Given the description of an element on the screen output the (x, y) to click on. 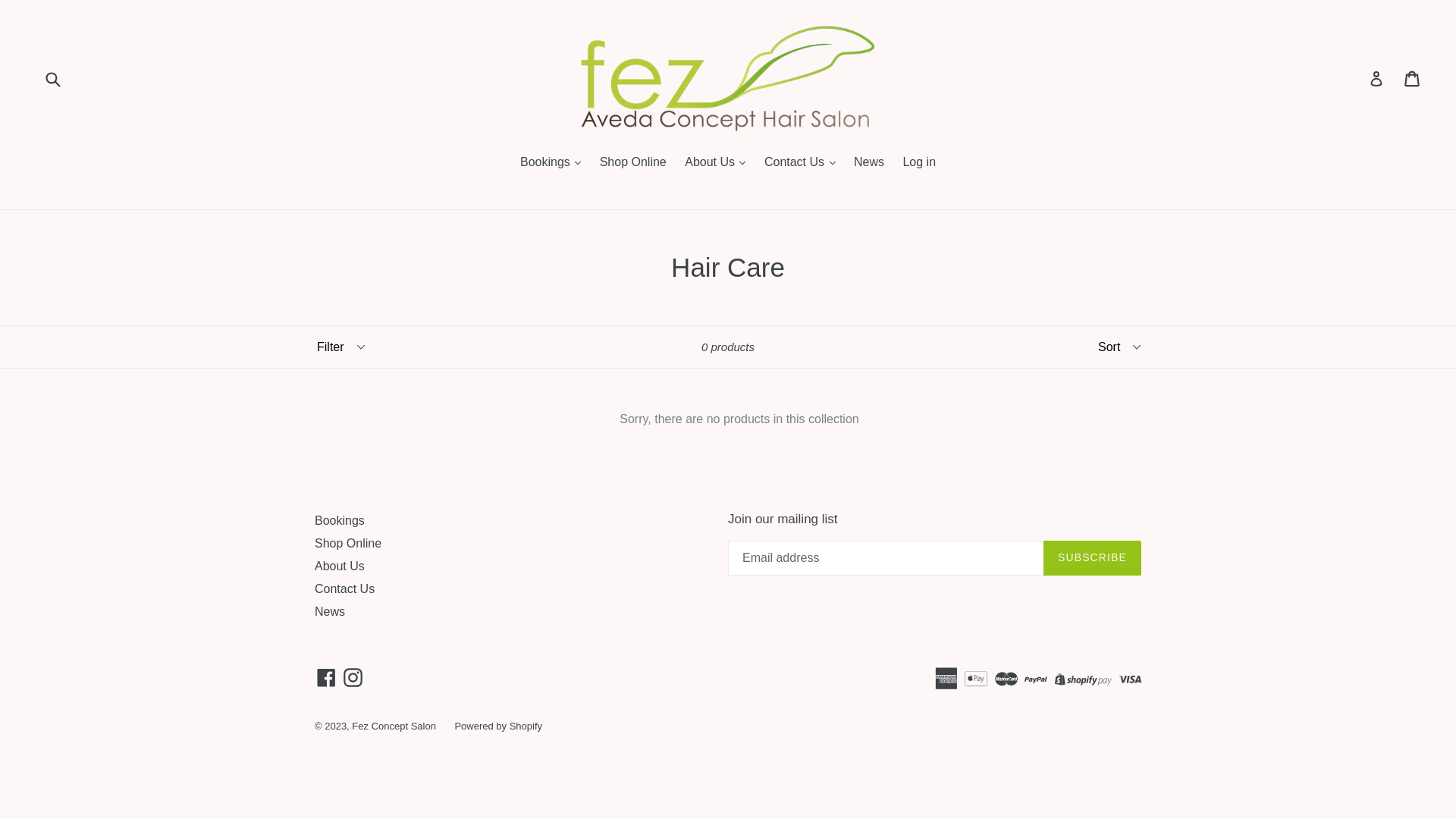
Powered by Shopify Element type: text (498, 725)
Bookings Element type: text (339, 520)
SUBSCRIBE Element type: text (1092, 557)
Facebook Element type: text (326, 677)
Shop Online Element type: text (347, 542)
Cart
Cart Element type: text (1412, 78)
Log in Element type: text (918, 163)
News Element type: text (329, 611)
Fez Concept Salon Element type: text (393, 725)
About Us Element type: text (339, 565)
Shop Online Element type: text (633, 163)
News Element type: text (868, 163)
Submit Element type: text (51, 78)
Log in Element type: text (1375, 78)
Contact Us Element type: text (344, 588)
Instagram Element type: text (352, 677)
